Given the description of an element on the screen output the (x, y) to click on. 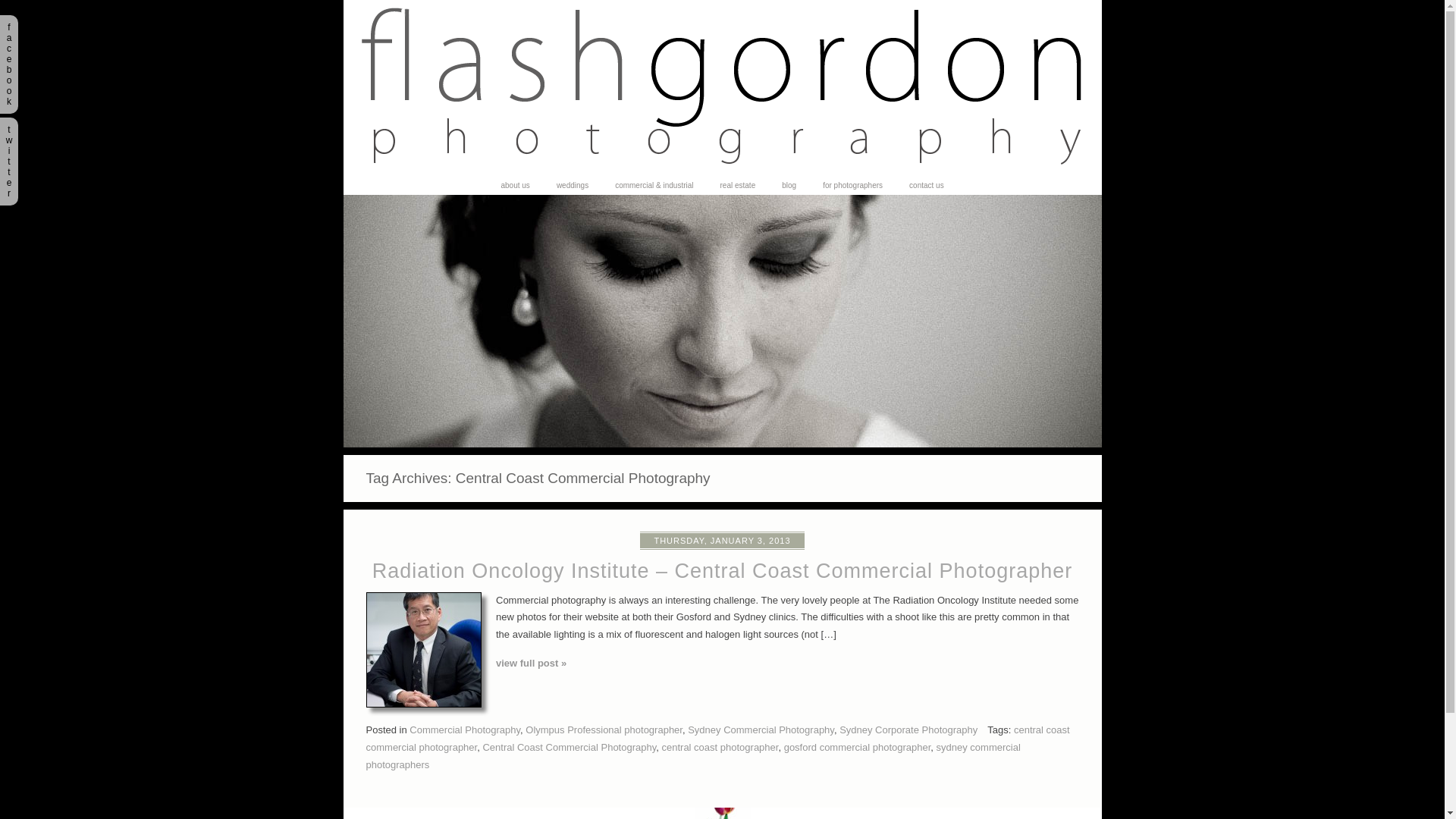
weddings Element type: text (572, 185)
sydney commercial photographers Element type: text (692, 755)
real estate Element type: text (738, 185)
central coast photographer Element type: text (719, 747)
Sydney Corporate Photography Element type: text (908, 729)
gosford commercial photographer Element type: text (857, 747)
Flash Gordon Photography Element type: hover (721, 172)
View full post  Element type: hover (422, 648)
central coast commercial photographer Element type: text (717, 738)
blog Element type: text (788, 185)
Central Coast Commercial Photography Element type: text (568, 747)
about us Element type: text (514, 185)
Sydney Commercial Photography Element type: text (760, 729)
Olympus Professional photographer Element type: text (603, 729)
for photographers Element type: text (852, 185)
commercial & industrial Element type: text (654, 185)
contact us Element type: text (926, 185)
Commercial Photography Element type: text (464, 729)
